Given the description of an element on the screen output the (x, y) to click on. 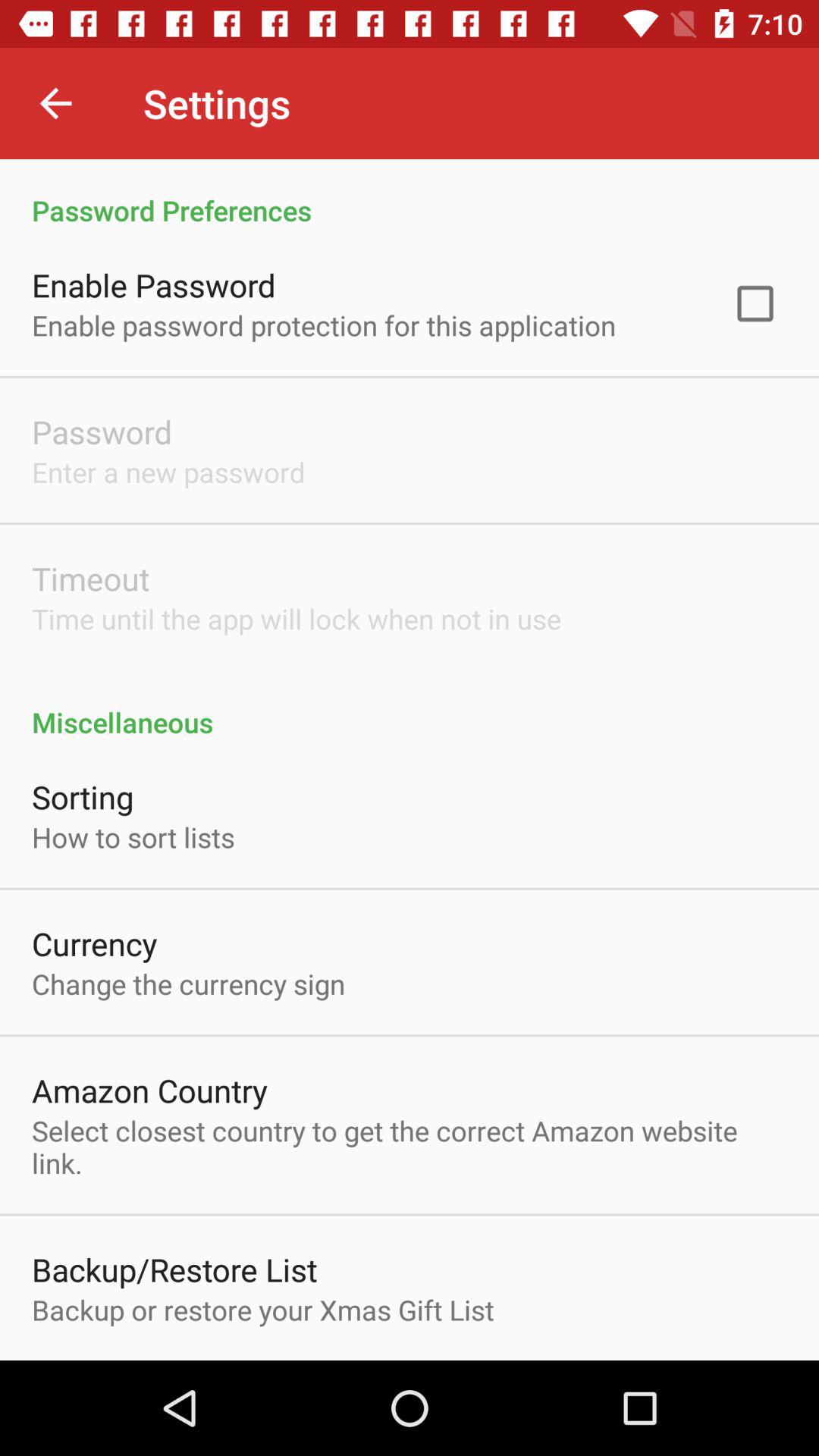
turn off item below the enter a new item (90, 578)
